Given the description of an element on the screen output the (x, y) to click on. 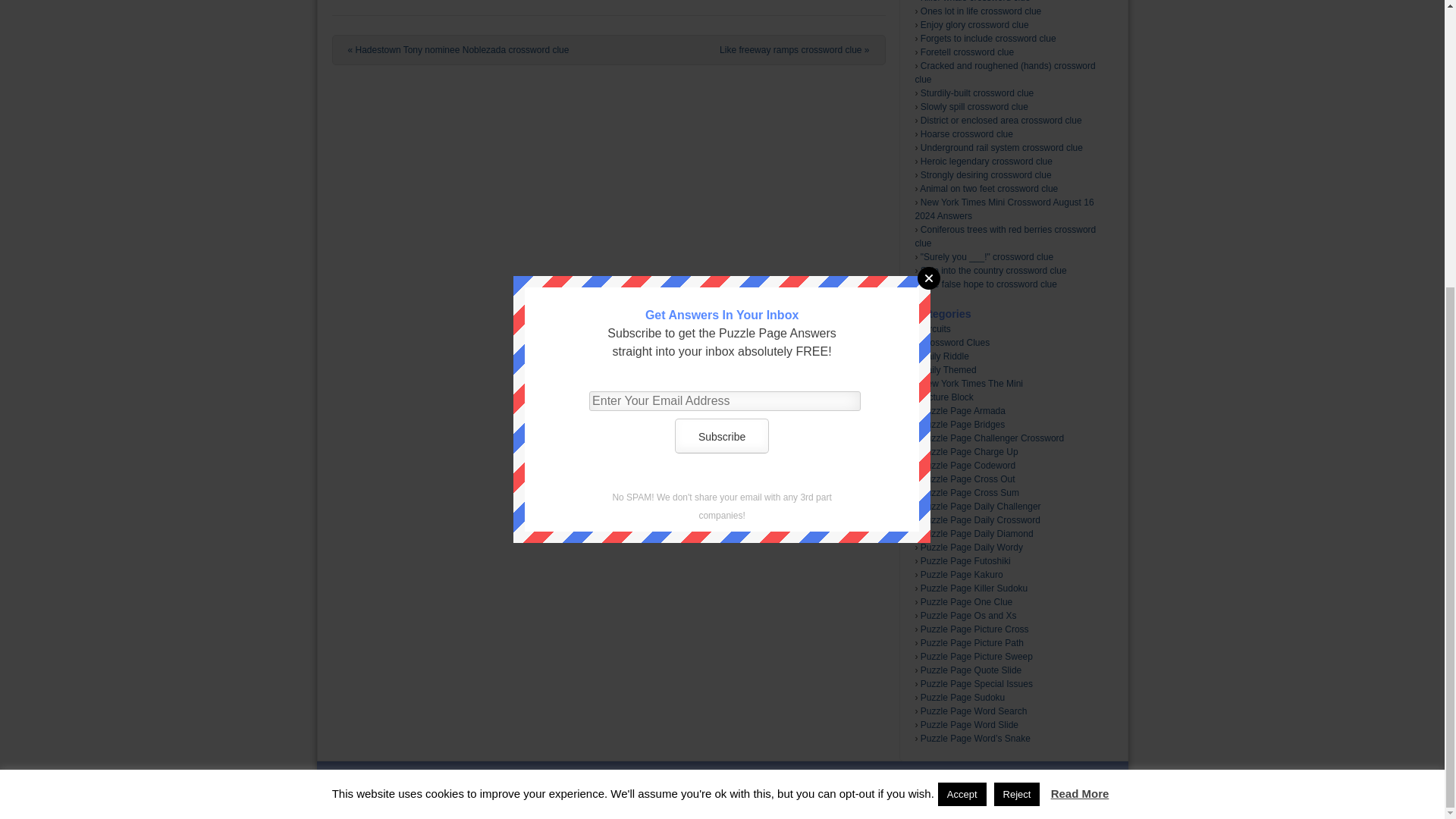
Slowly spill crossword clue (973, 106)
Ones lot in life crossword clue (980, 10)
District or enclosed area crossword clue (1000, 120)
Forgets to include crossword clue (988, 38)
Enjoy glory crossword clue (974, 24)
Underground rail system crossword clue (1001, 147)
A Semantic Personal Publishing Platform (696, 788)
Subscribe (721, 9)
Heroic legendary crossword clue (986, 161)
Sturdily-built crossword clue (976, 92)
